Given the description of an element on the screen output the (x, y) to click on. 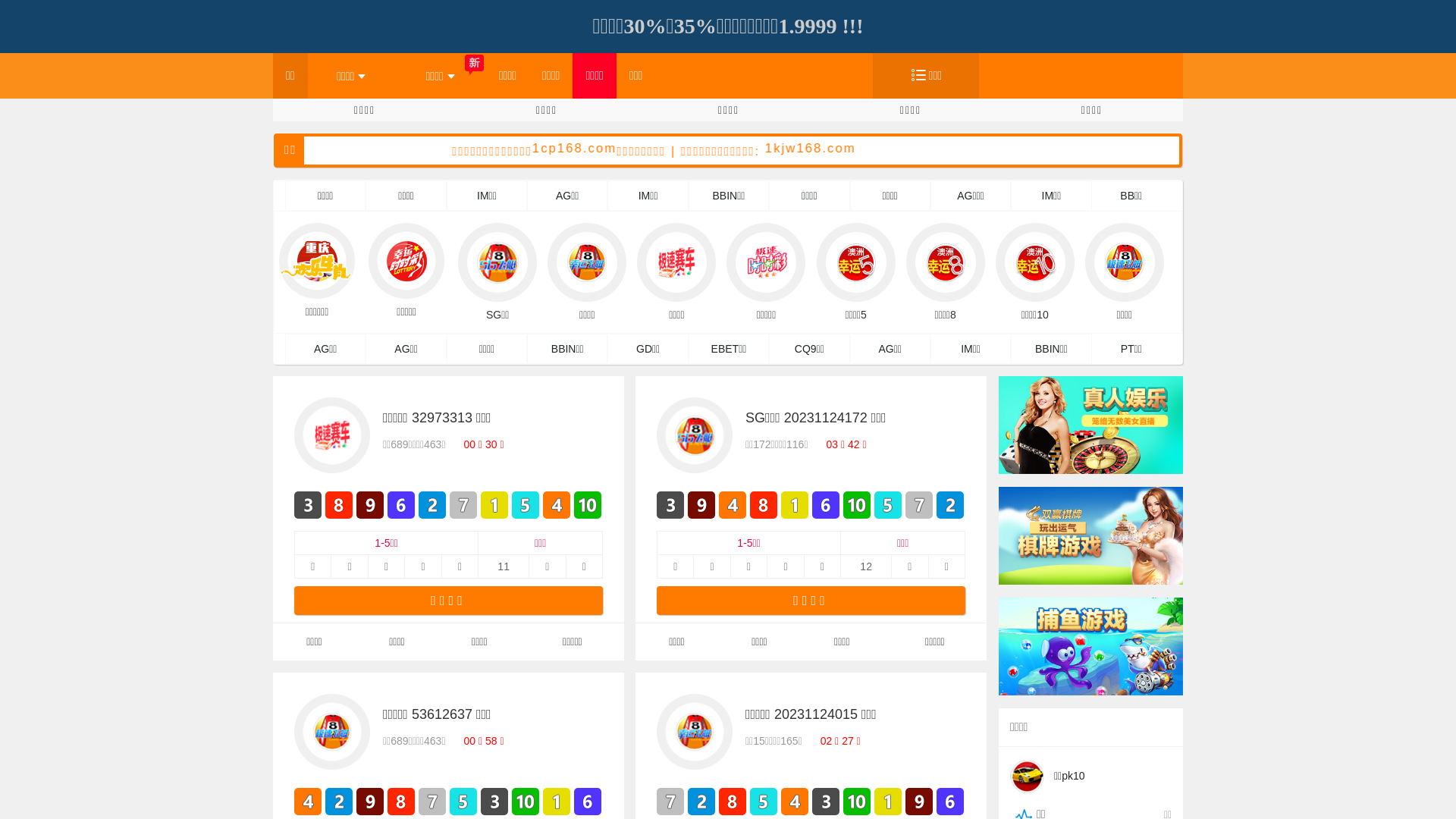
1kjw168.com Element type: text (917, 148)
1cp168.com Element type: text (681, 148)
